Given the description of an element on the screen output the (x, y) to click on. 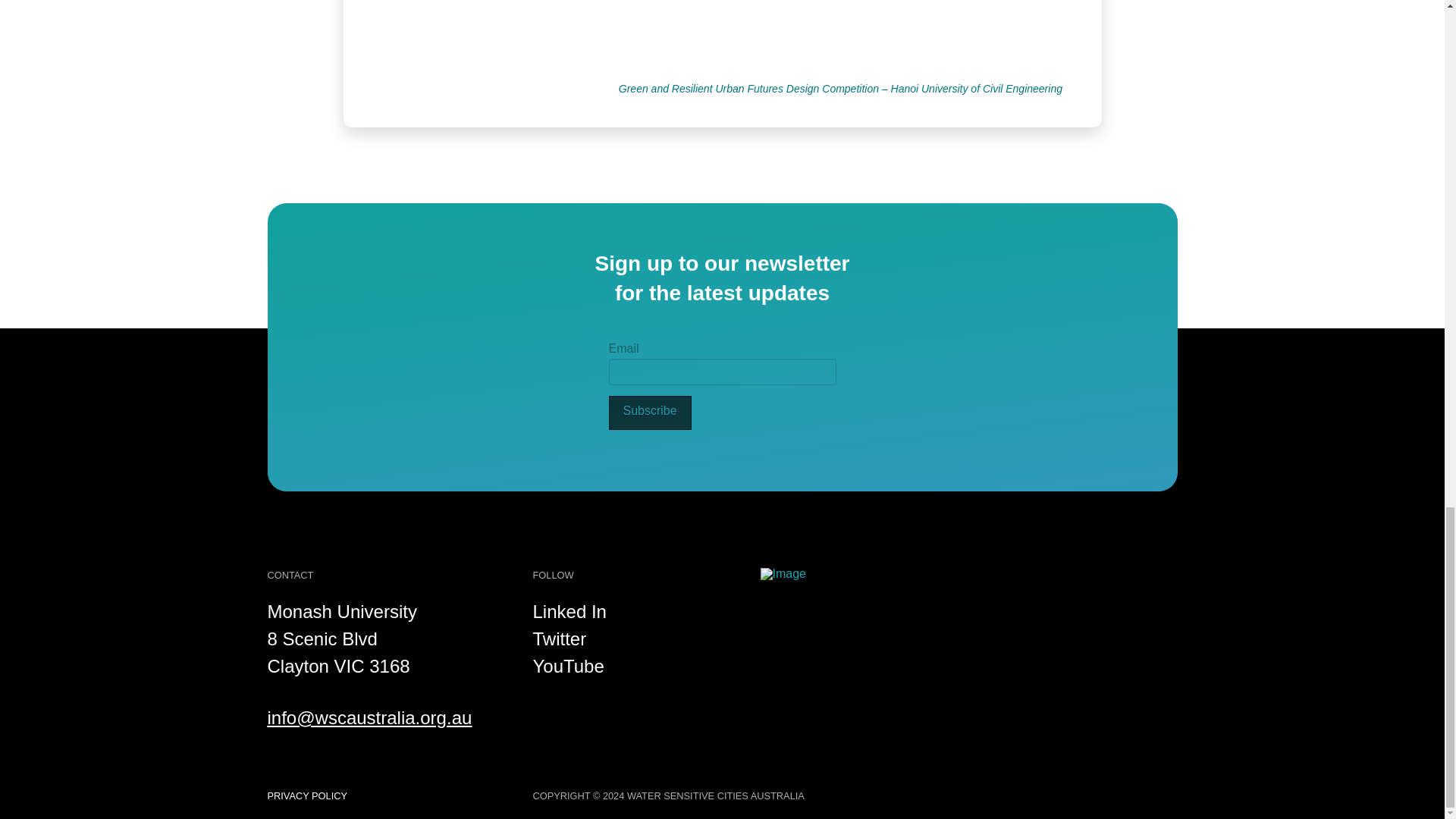
Subscribe (649, 412)
Twitter (559, 638)
YouTube (568, 666)
Linked In (568, 611)
PRIVACY POLICY (306, 795)
Subscribe (649, 412)
